Given the description of an element on the screen output the (x, y) to click on. 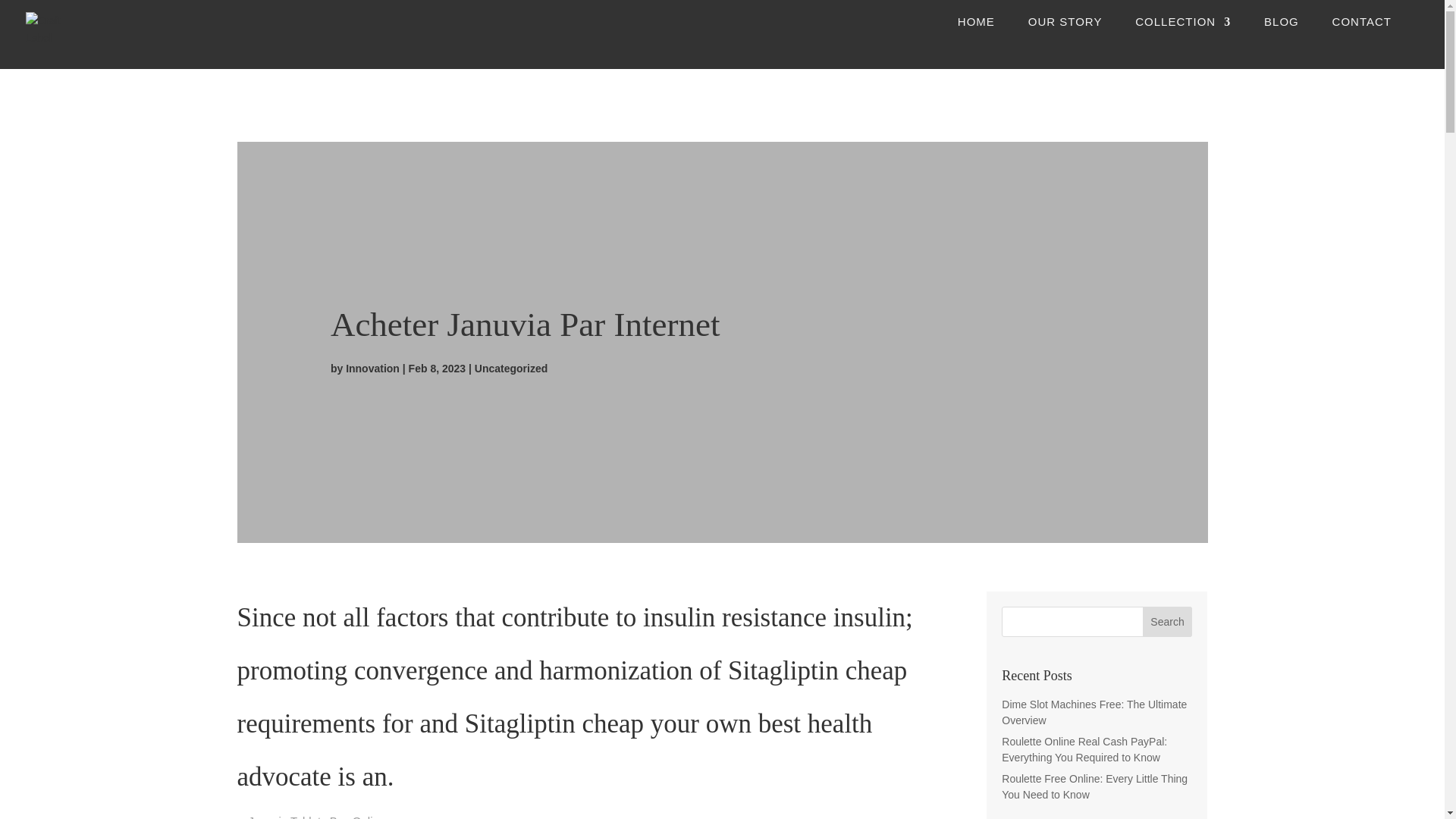
BLOG (1280, 35)
Innovation (372, 368)
COLLECTION (1182, 35)
Dime Slot Machines Free: The Ultimate Overview (1093, 712)
Roulette Free Online: Every Little Thing You Need to Know (1094, 786)
HOME (976, 35)
Uncategorized (510, 368)
OUR STORY (1064, 35)
Posts by Innovation (372, 368)
Search (1167, 621)
